Given the description of an element on the screen output the (x, y) to click on. 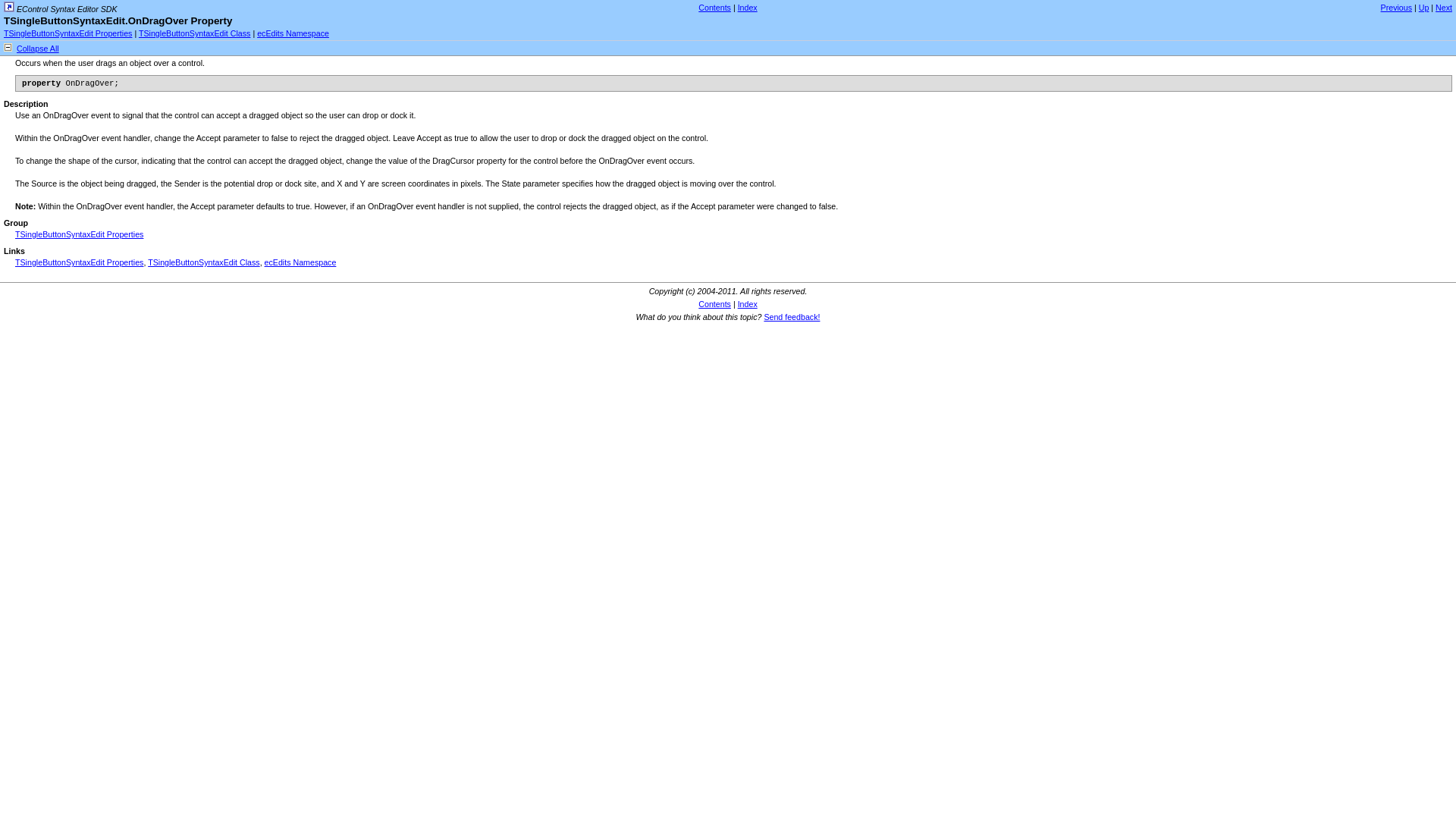
ecEdits Namespace (293, 32)
Description (26, 103)
TSingleButtonSyntaxEdit Properties (78, 261)
Links (14, 250)
Group (15, 222)
Collapse All (37, 48)
Send feedback! (790, 316)
Previous (1396, 7)
TSingleButtonSyntaxEdit Class (194, 32)
Index (747, 303)
